Given the description of an element on the screen output the (x, y) to click on. 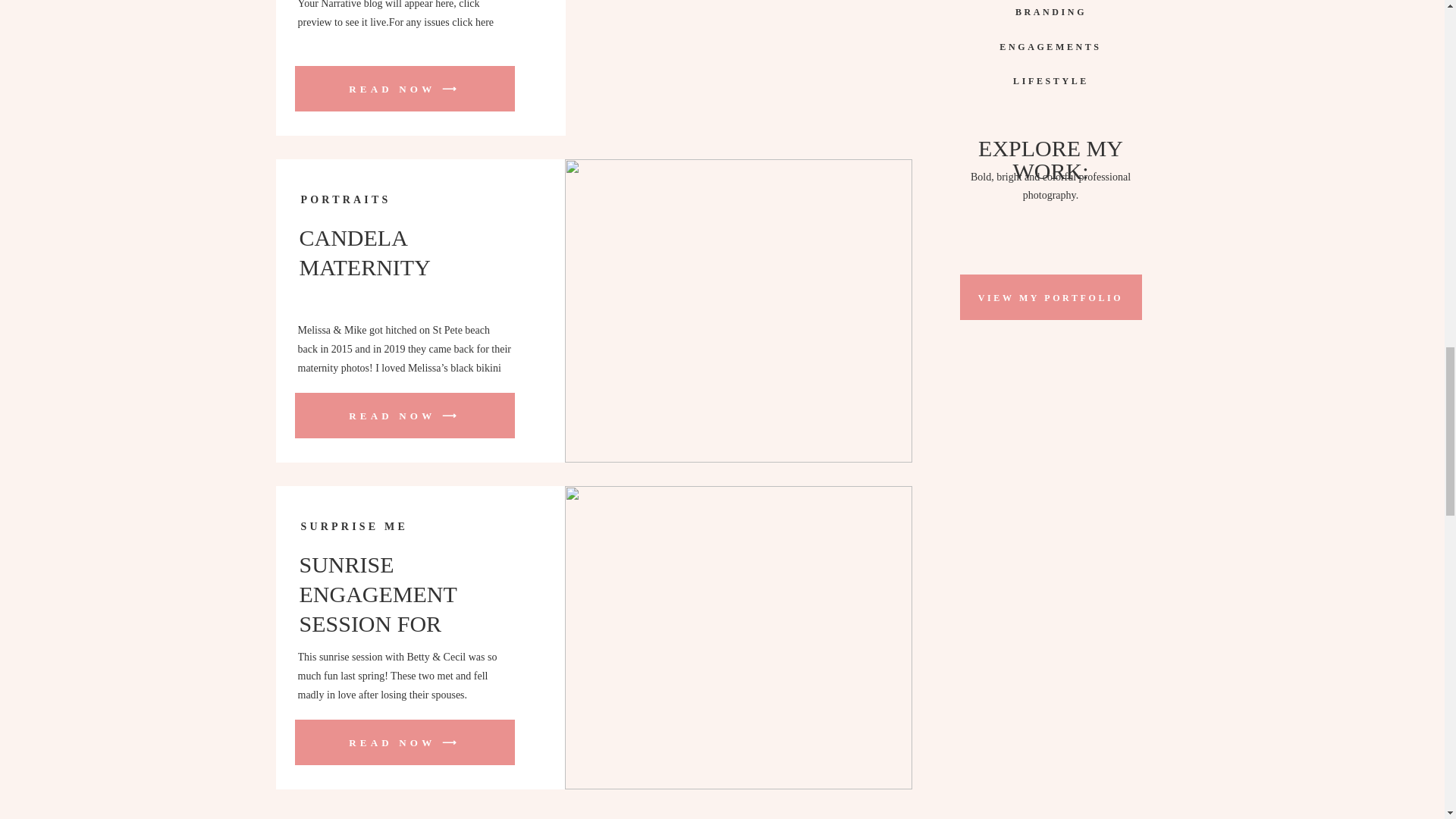
Candela Maternity (737, 310)
BRANDING (1050, 9)
ENGAGEMENTS (1049, 44)
Candela Maternity (403, 416)
